Given the description of an element on the screen output the (x, y) to click on. 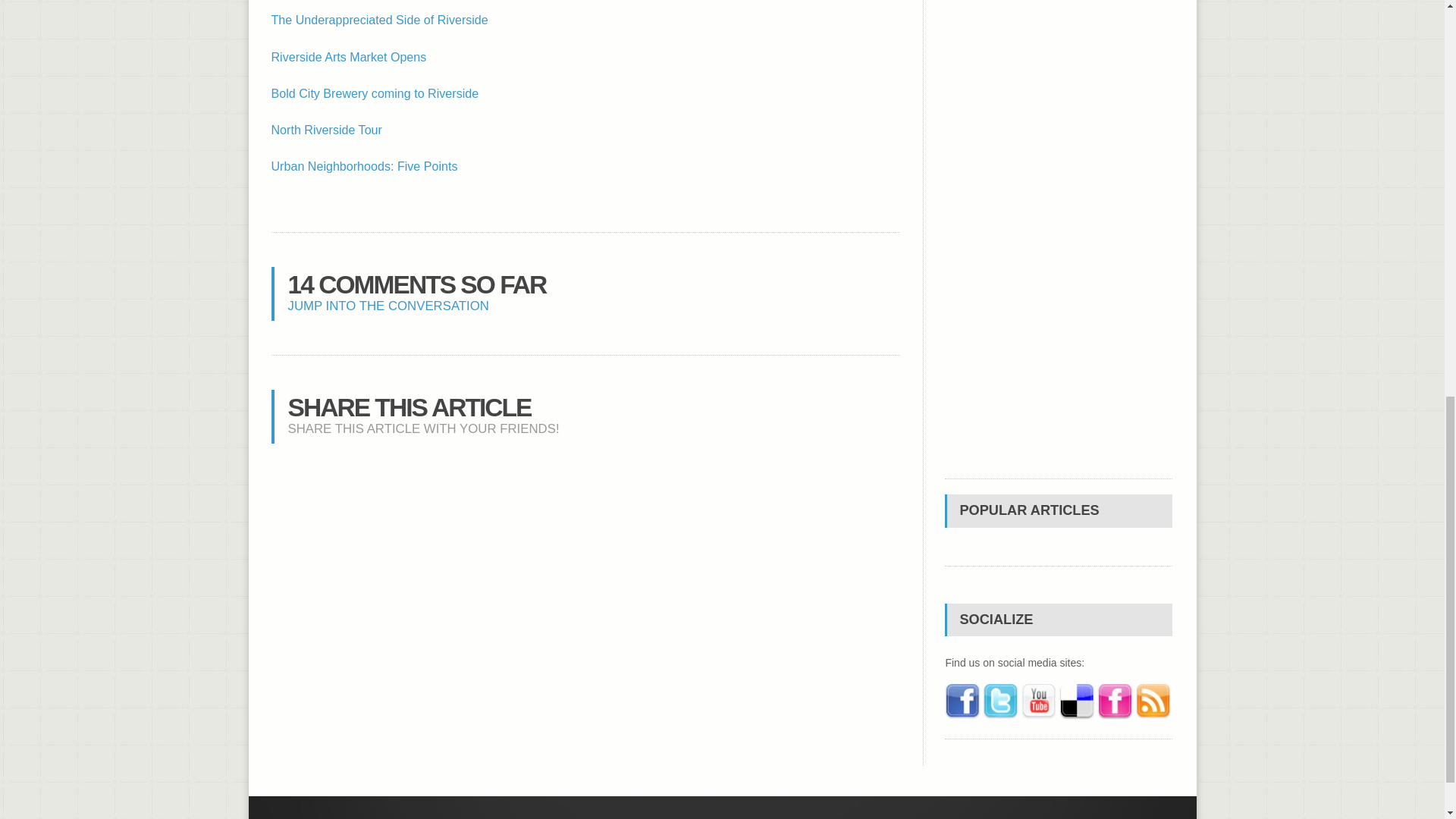
The Underappreciated Side of Riverside (378, 19)
